Given the description of an element on the screen output the (x, y) to click on. 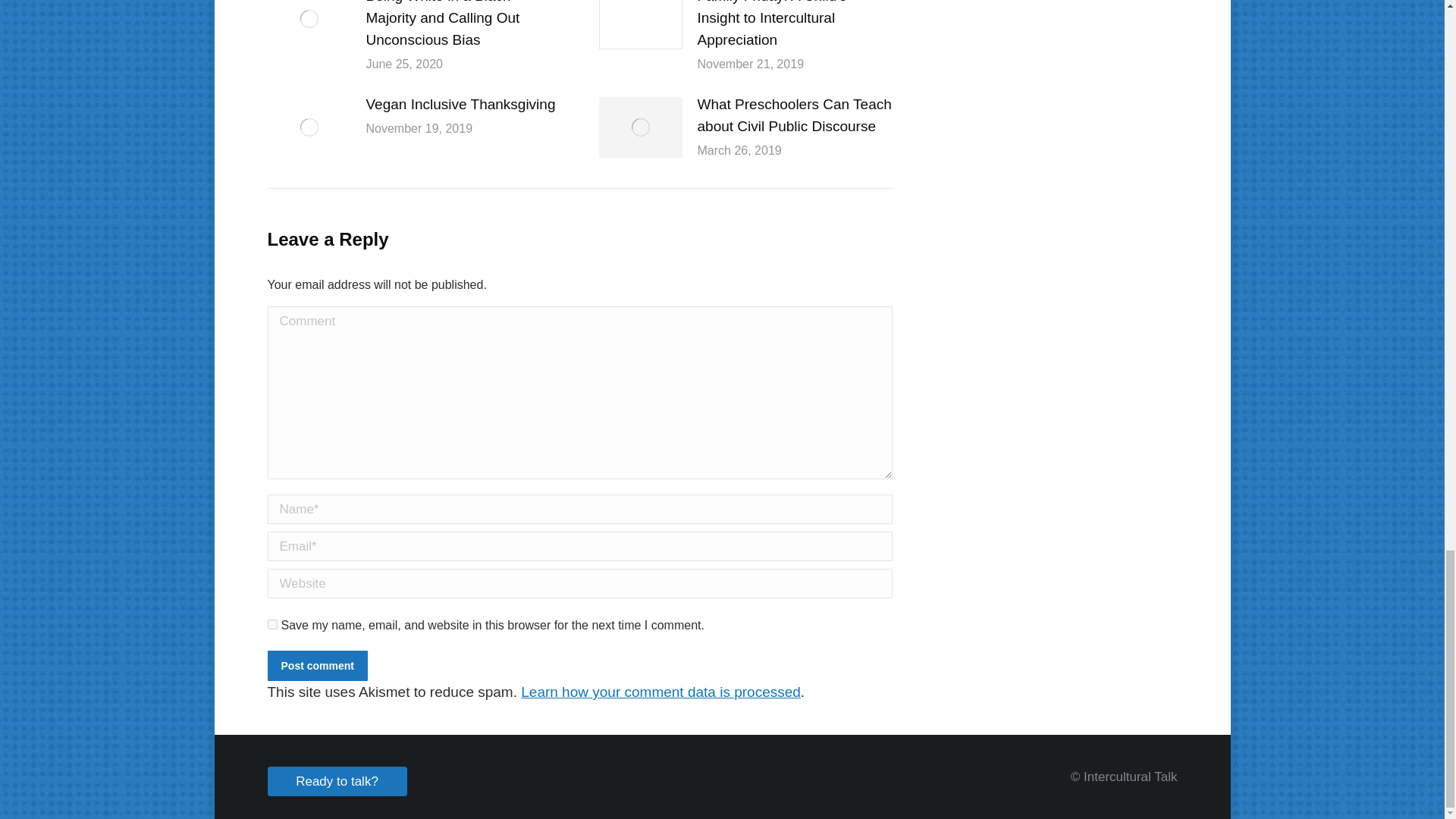
yes (271, 624)
